Given the description of an element on the screen output the (x, y) to click on. 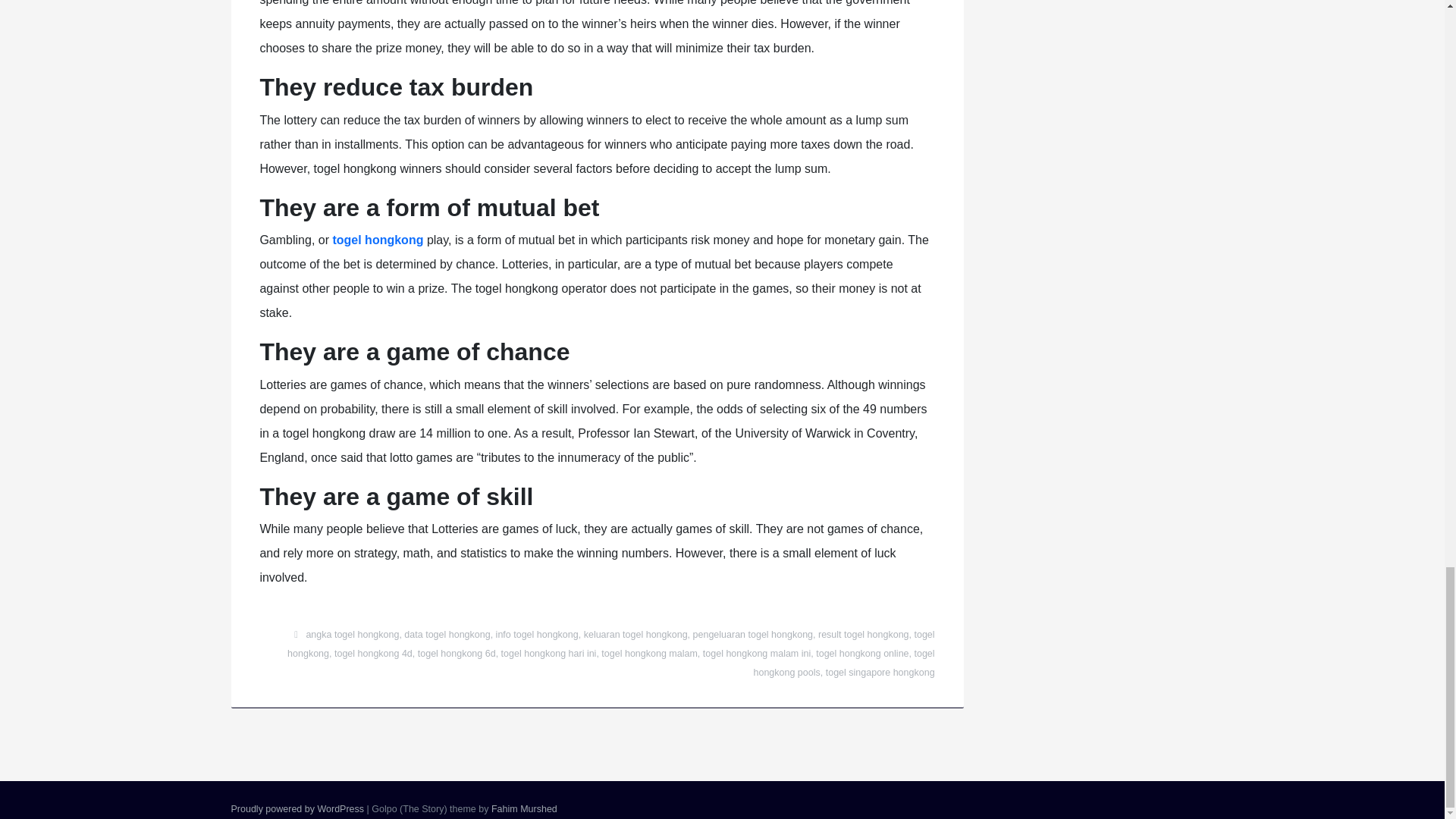
info togel hongkong (537, 634)
data togel hongkong (446, 634)
result togel hongkong (863, 634)
togel hongkong hari ini (548, 653)
togel hongkong 6d (456, 653)
togel hongkong malam (649, 653)
togel hongkong 4d (373, 653)
togel hongkong (610, 644)
angka togel hongkong (351, 634)
pengeluaran togel hongkong (752, 634)
